Given the description of an element on the screen output the (x, y) to click on. 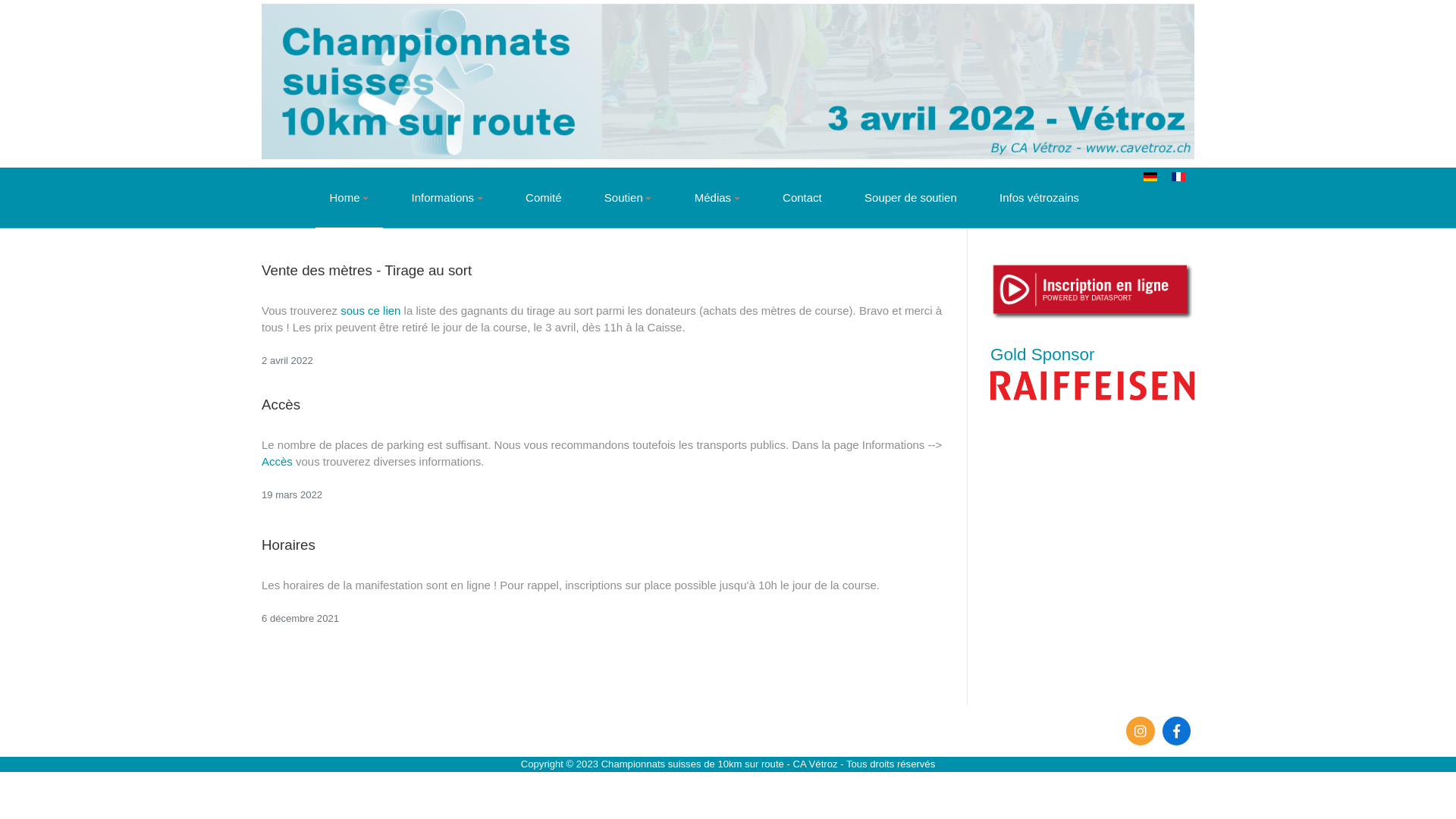
Deutsch (Schweiz) Element type: hover (1150, 176)
Informations Element type: text (447, 197)
Contact Element type: text (801, 197)
Souper de soutien Element type: text (910, 197)
Horaires Element type: text (288, 544)
Soutien Element type: text (627, 197)
sous ce lien Element type: text (370, 310)
Home Element type: text (348, 197)
